Given the description of an element on the screen output the (x, y) to click on. 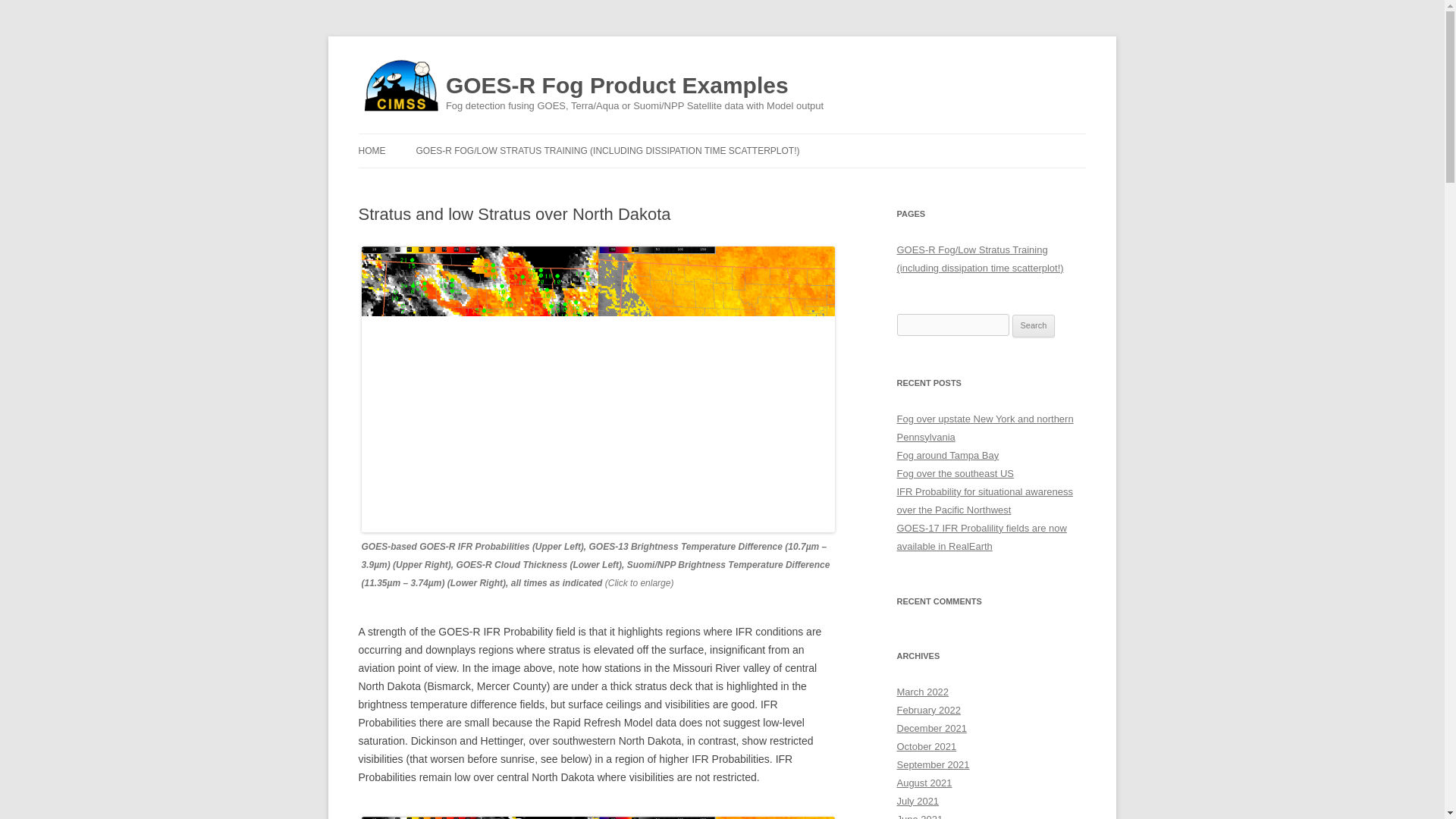
GOES-R Fog Product Examples (617, 85)
October 2021 (926, 746)
GOES-R Fog Product Examples (617, 85)
Fog over the southeast US (954, 473)
December 2021 (931, 727)
August 2021 (924, 782)
July 2021 (917, 800)
February 2022 (927, 709)
Fog over upstate New York and northern Pennsylvania (984, 428)
September 2021 (932, 764)
March 2022 (922, 691)
Skip to content (757, 138)
Search (1033, 325)
Fog around Tampa Bay (947, 455)
